Given the description of an element on the screen output the (x, y) to click on. 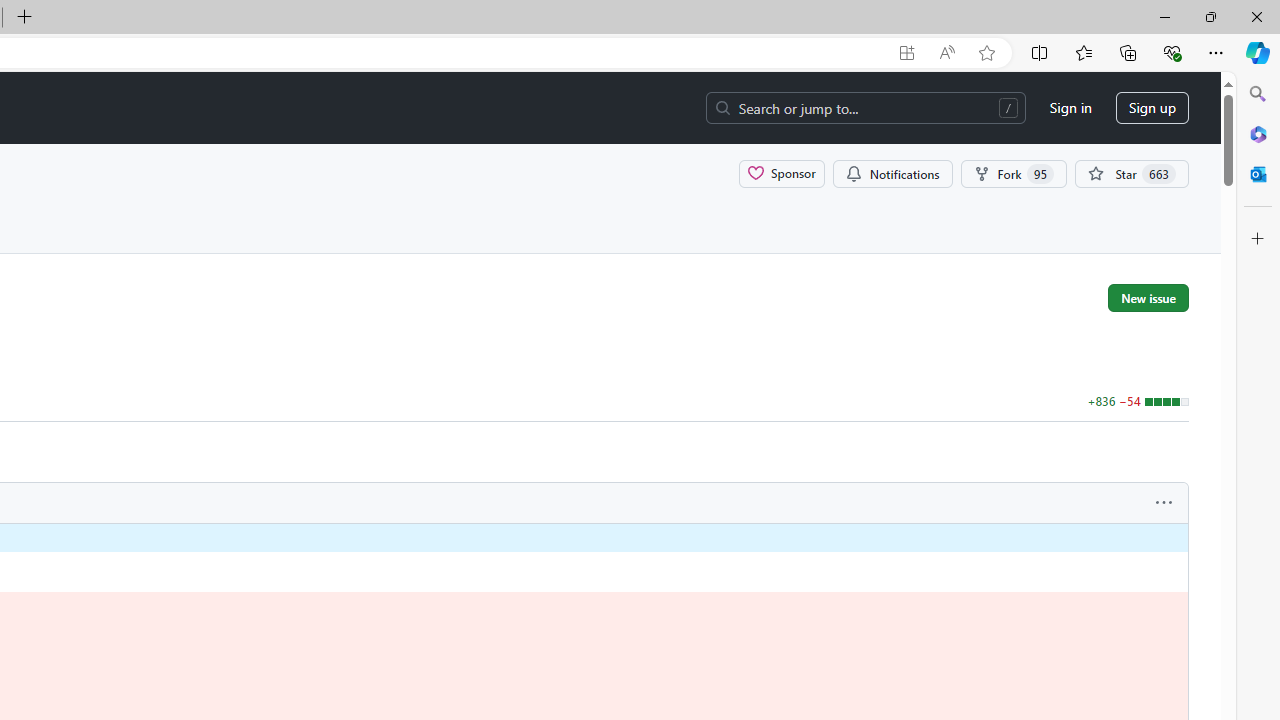
Show options (1163, 503)
App available. Install GitHub (906, 53)
Show options (1163, 503)
Fork 95 (1013, 173)
Fork 95 (1013, 173)
 Star 663 (1132, 173)
New issue (1148, 297)
